Given the description of an element on the screen output the (x, y) to click on. 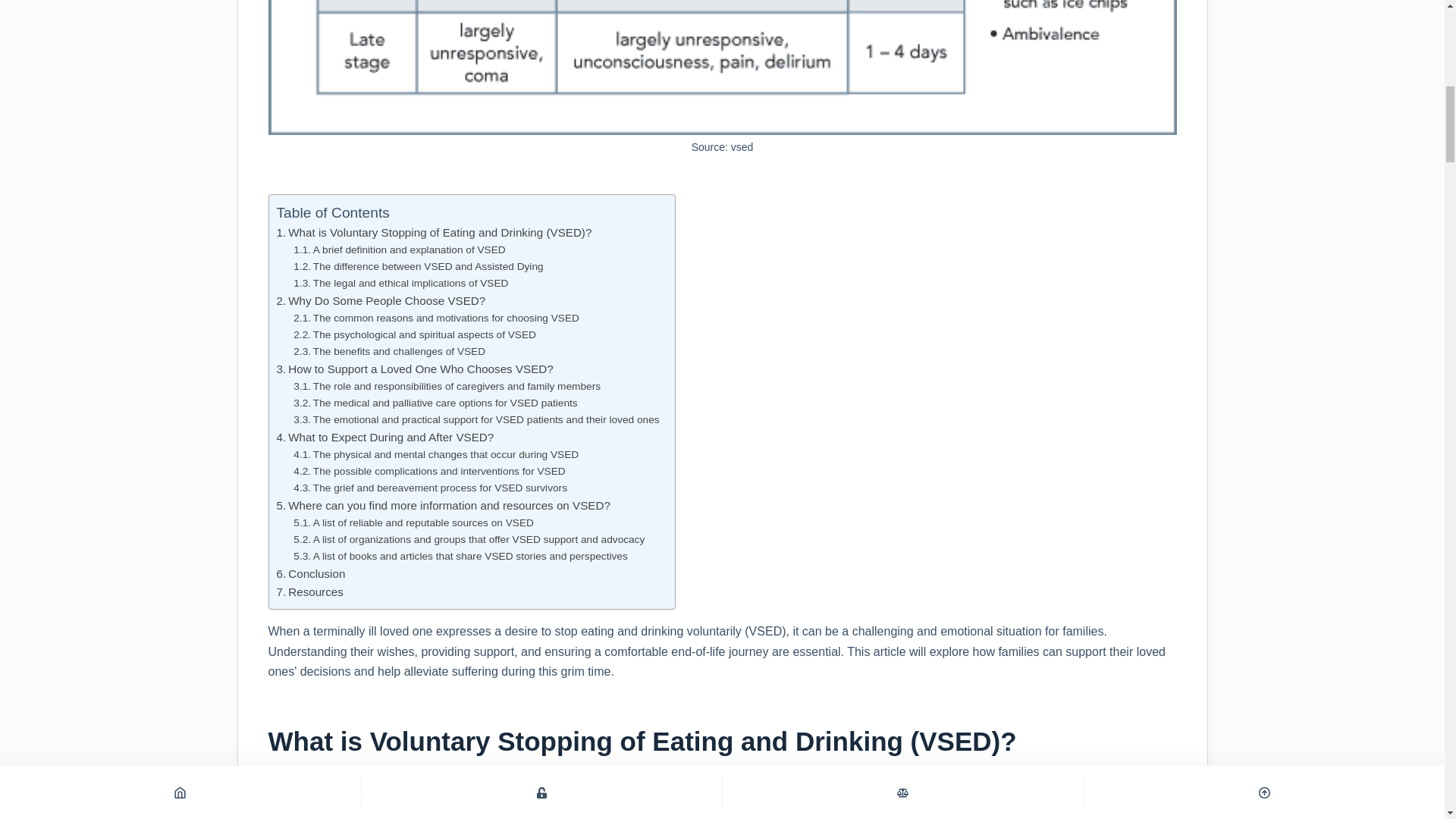
A brief definition and explanation of VSED (399, 249)
Why Do Some People Choose VSED? (380, 300)
The legal and ethical implications of VSED (401, 283)
The medical and palliative care options for VSED patients (435, 402)
The psychological and spiritual aspects of VSED (414, 334)
How to Support a Loved One Who Chooses VSED? (414, 369)
The common reasons and motivations for choosing VSED (436, 318)
The difference between VSED and Assisted Dying (418, 266)
The benefits and challenges of VSED (389, 351)
